Given the description of an element on the screen output the (x, y) to click on. 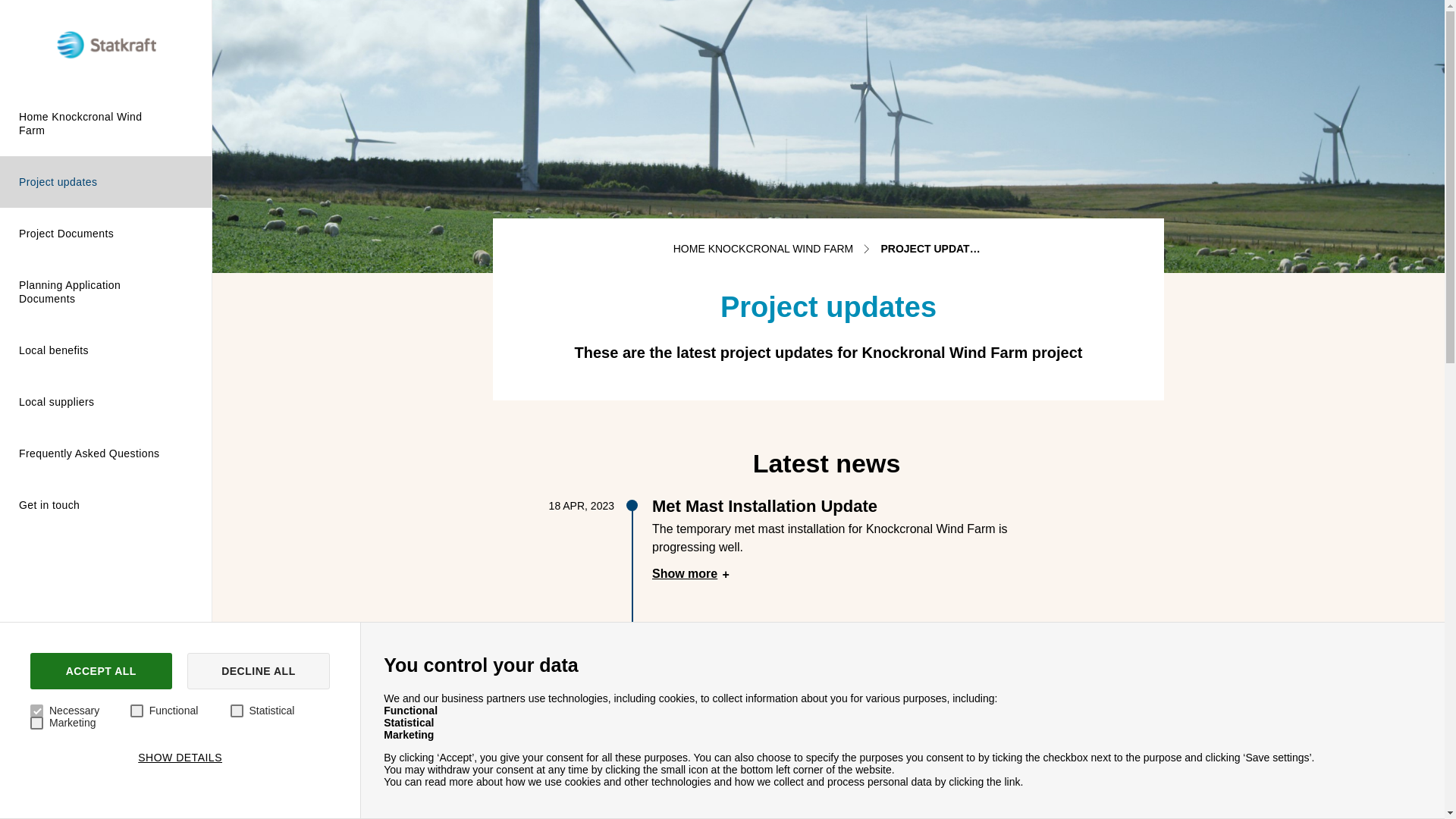
ACCEPT ALL (100, 670)
SHOW DETAILS (179, 757)
DECLINE ALL (258, 670)
